Given the description of an element on the screen output the (x, y) to click on. 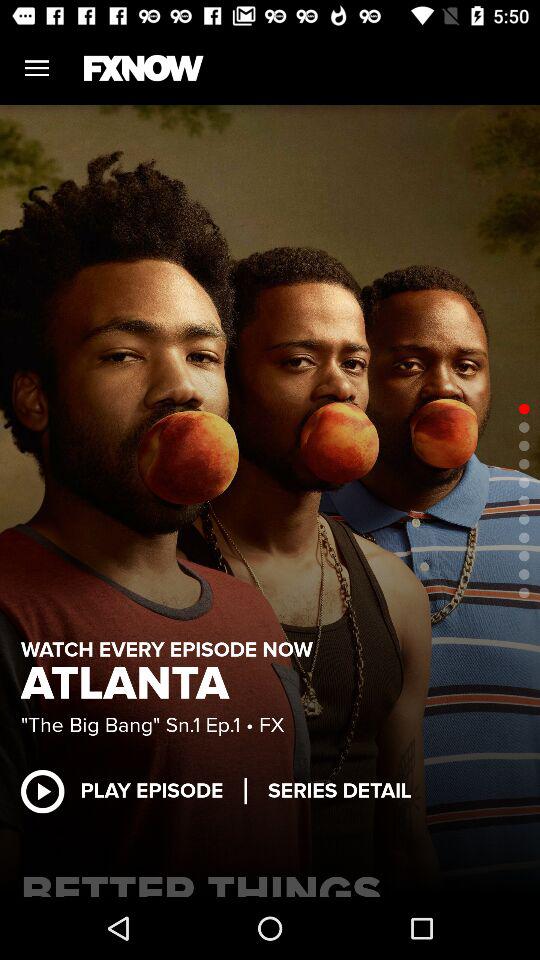
jump until the play episode (132, 790)
